Given the description of an element on the screen output the (x, y) to click on. 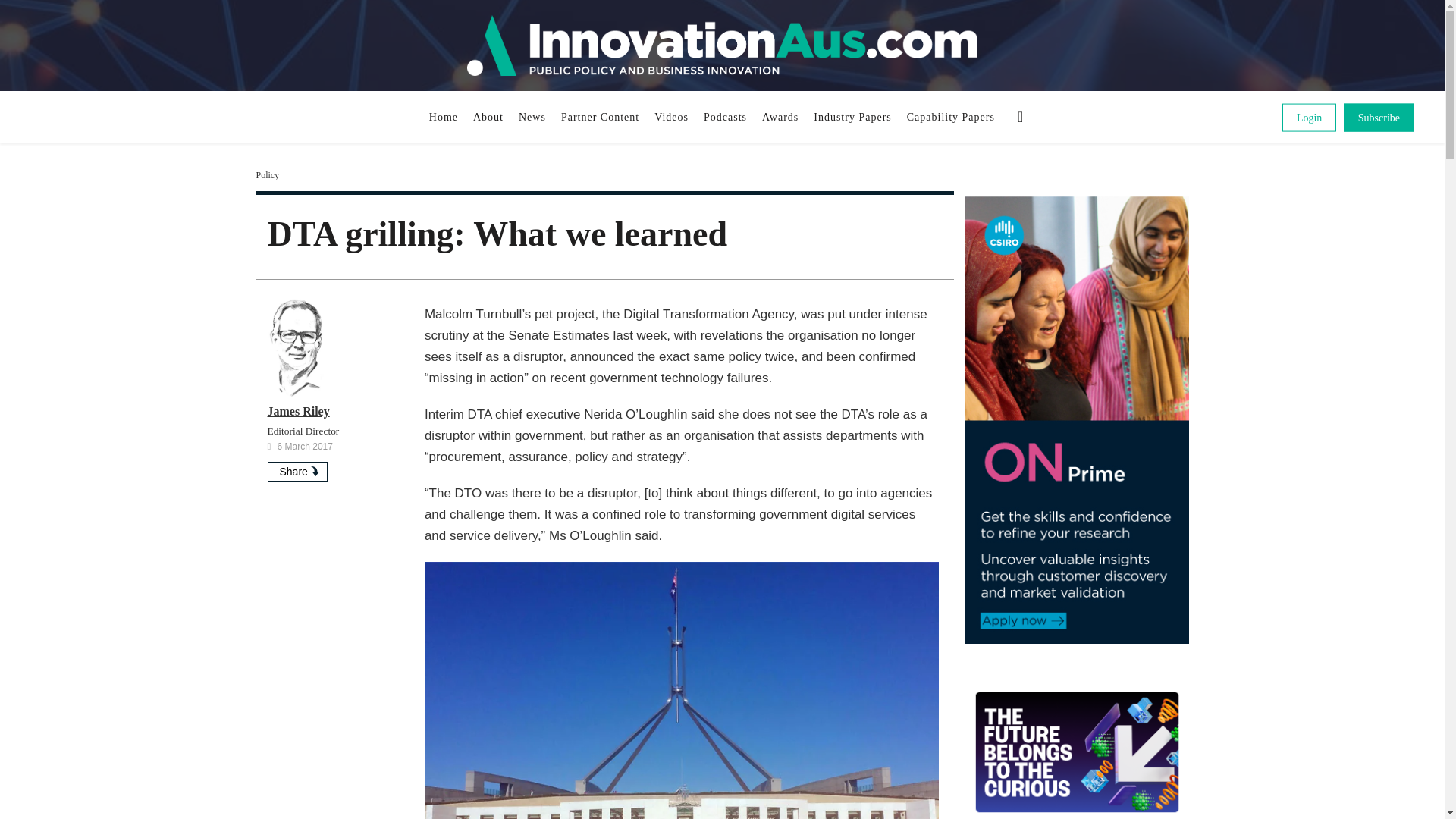
Industry Papers (852, 116)
policy (267, 174)
Podcasts (724, 116)
Share (296, 471)
Videos (670, 116)
James Riley (297, 410)
Login (1309, 117)
Awards (780, 116)
Partner Content (599, 116)
Capability Papers (951, 116)
Subscribe (1378, 117)
